Given the description of an element on the screen output the (x, y) to click on. 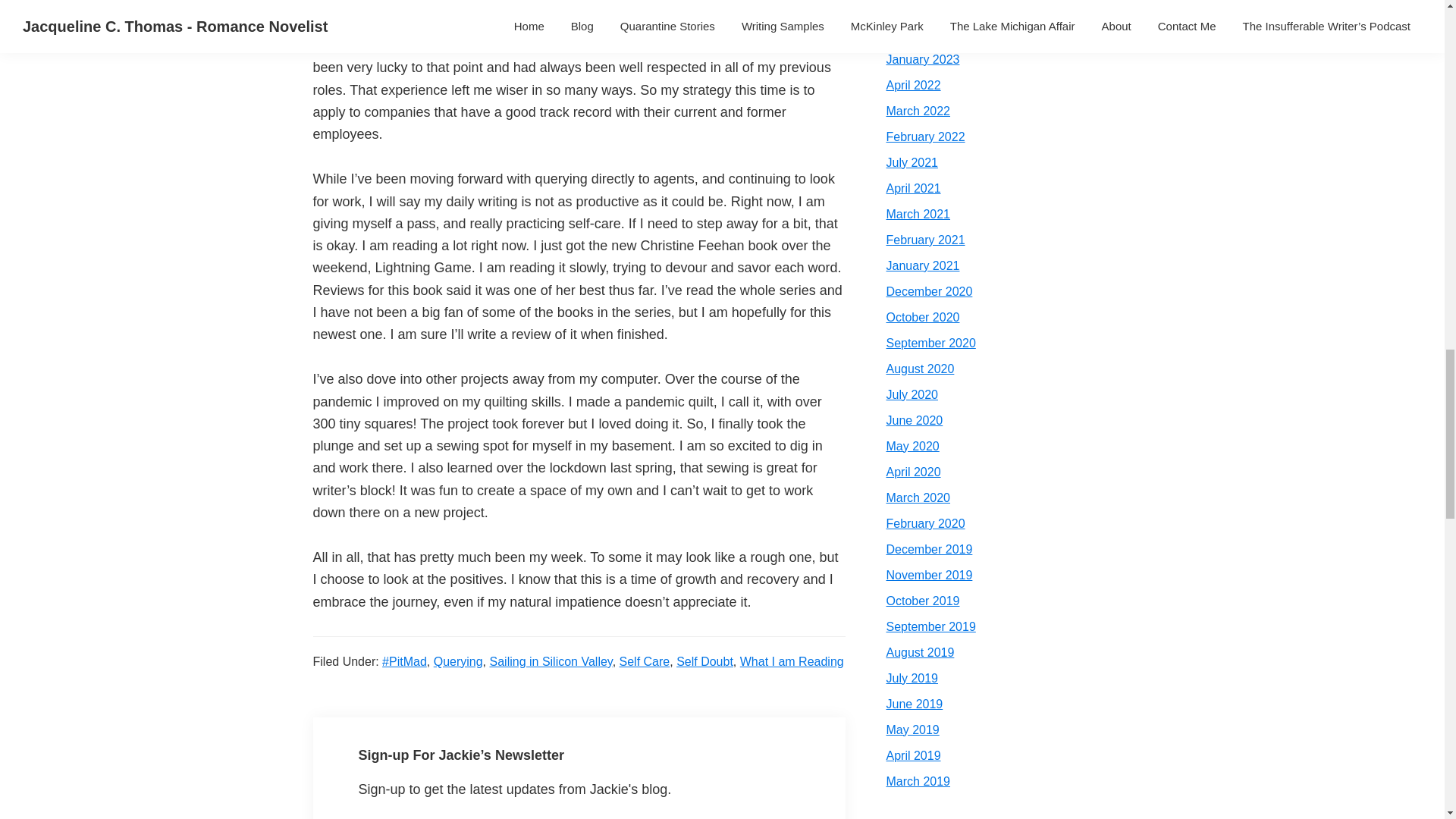
Querying (458, 661)
What I am Reading (791, 661)
Self Doubt (705, 661)
Self Care (644, 661)
Sailing in Silicon Valley (550, 661)
